Given the description of an element on the screen output the (x, y) to click on. 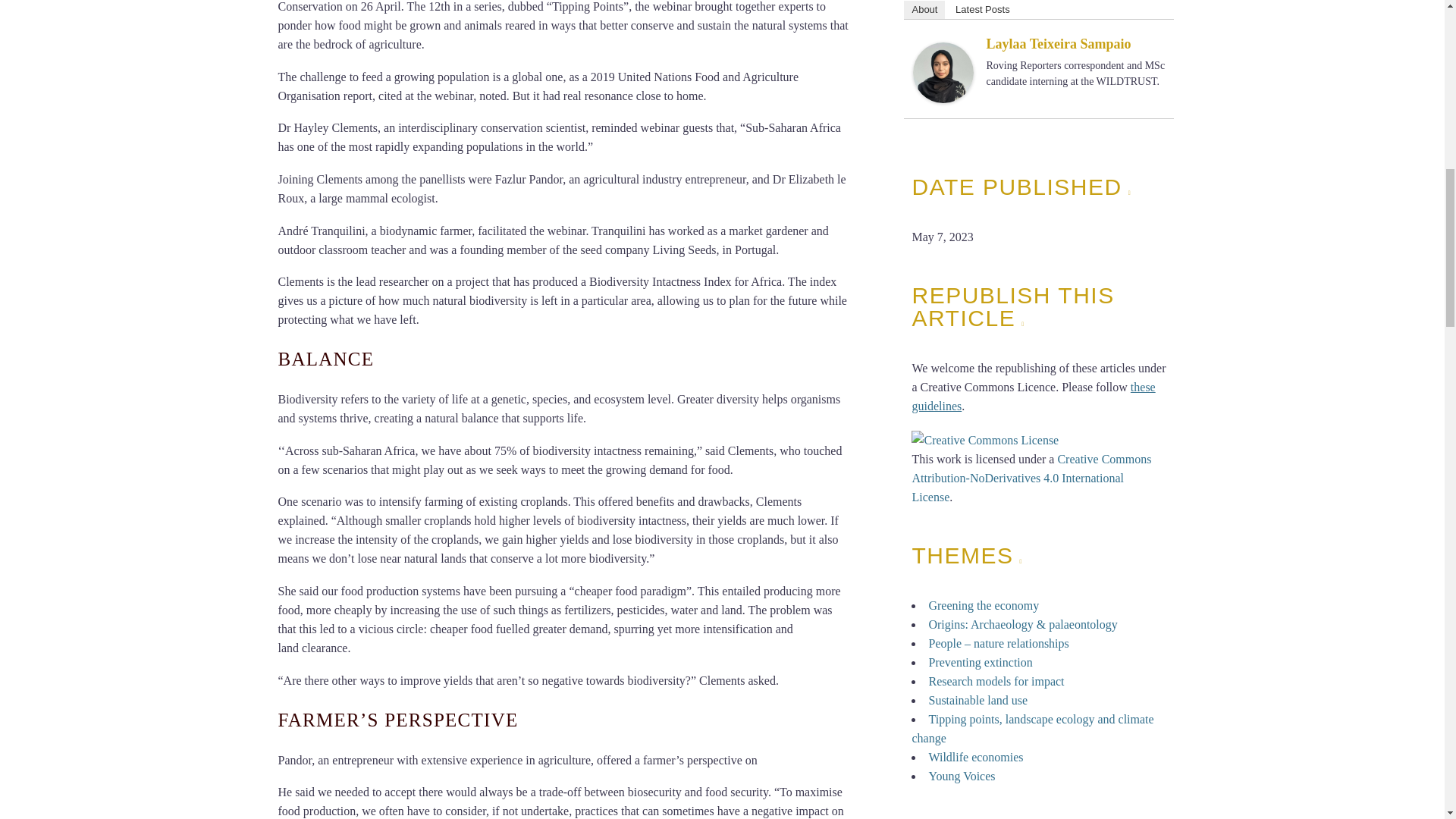
Preventing extinction (980, 662)
Laylaa Teixeira Sampaio (943, 71)
Research models for impact (996, 680)
About (924, 9)
Sustainable land use (977, 699)
Latest Posts (982, 9)
Laylaa Teixeira Sampaio (1058, 43)
Tipping points, landscape ecology and climate change (1032, 728)
these guidelines (1032, 396)
